Given the description of an element on the screen output the (x, y) to click on. 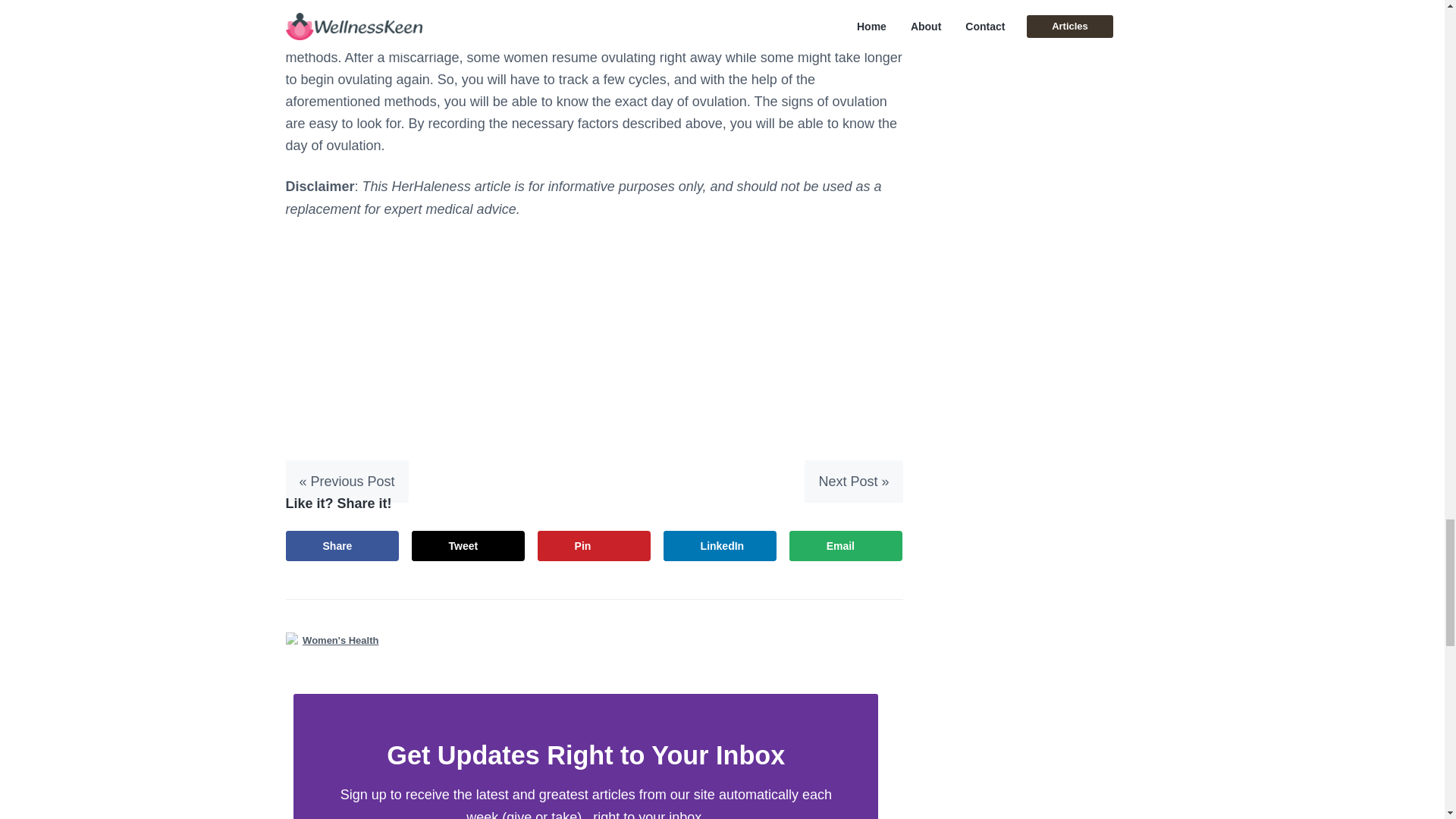
Tweet (468, 545)
Email (845, 545)
Share on Facebook (341, 545)
Women's Health (340, 640)
LinkedIn (720, 545)
Save to Pinterest (593, 545)
Send over email (845, 545)
Share on X (468, 545)
Share (341, 545)
Share on LinkedIn (720, 545)
Pin (593, 545)
